Given the description of an element on the screen output the (x, y) to click on. 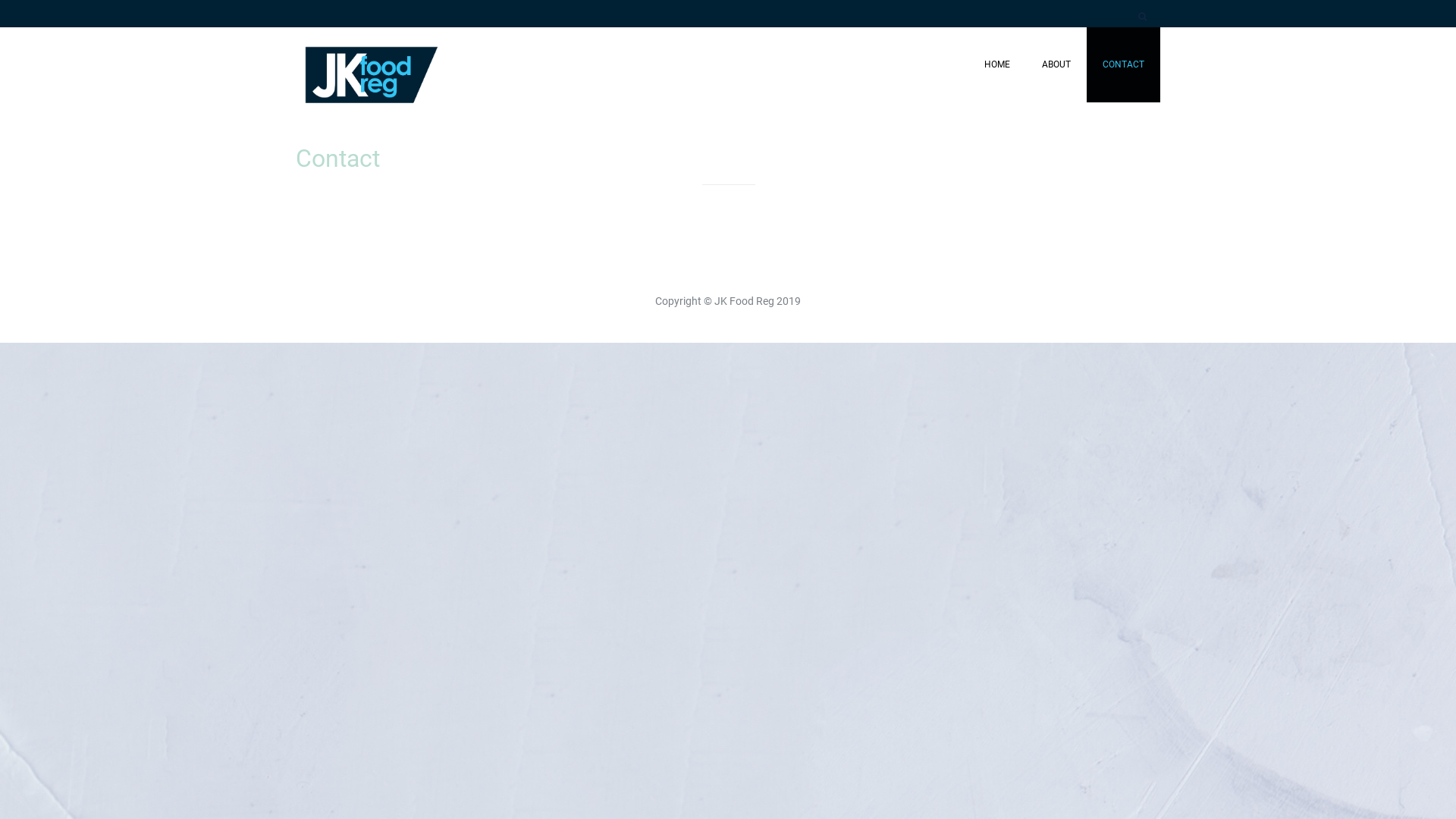
ABOUT Element type: text (1056, 64)
CONTACT Element type: text (1123, 64)
HOME Element type: text (997, 64)
